Given the description of an element on the screen output the (x, y) to click on. 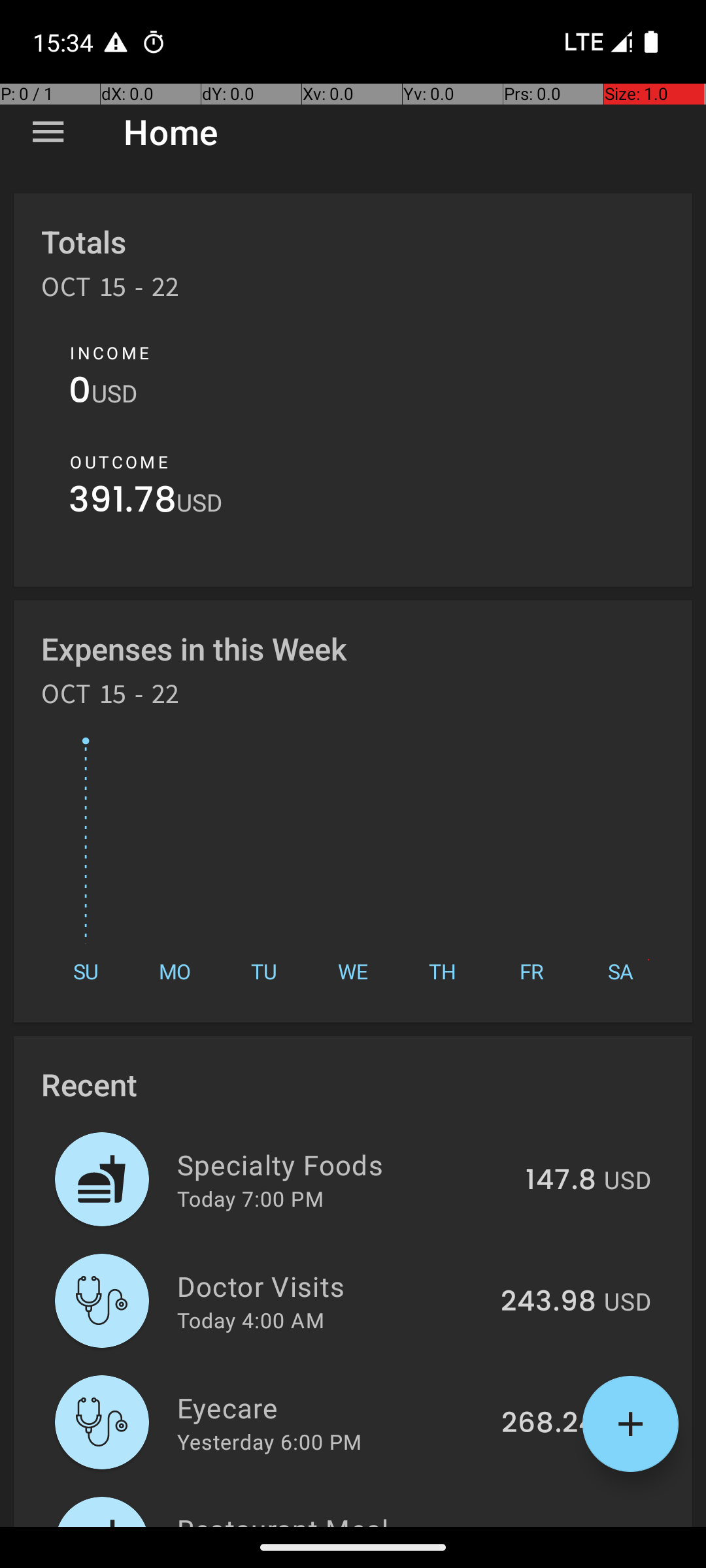
391.78 Element type: android.widget.TextView (122, 502)
Specialty Foods Element type: android.widget.TextView (343, 1164)
Today 7:00 PM Element type: android.widget.TextView (250, 1198)
147.8 Element type: android.widget.TextView (560, 1180)
Doctor Visits Element type: android.widget.TextView (331, 1285)
Today 4:00 AM Element type: android.widget.TextView (250, 1320)
243.98 Element type: android.widget.TextView (548, 1301)
Eyecare Element type: android.widget.TextView (331, 1407)
Yesterday 6:00 PM Element type: android.widget.TextView (269, 1441)
268.24 Element type: android.widget.TextView (548, 1423)
Restaurant Meal Element type: android.widget.TextView (331, 1518)
208.79 Element type: android.widget.TextView (548, 1524)
